Given the description of an element on the screen output the (x, y) to click on. 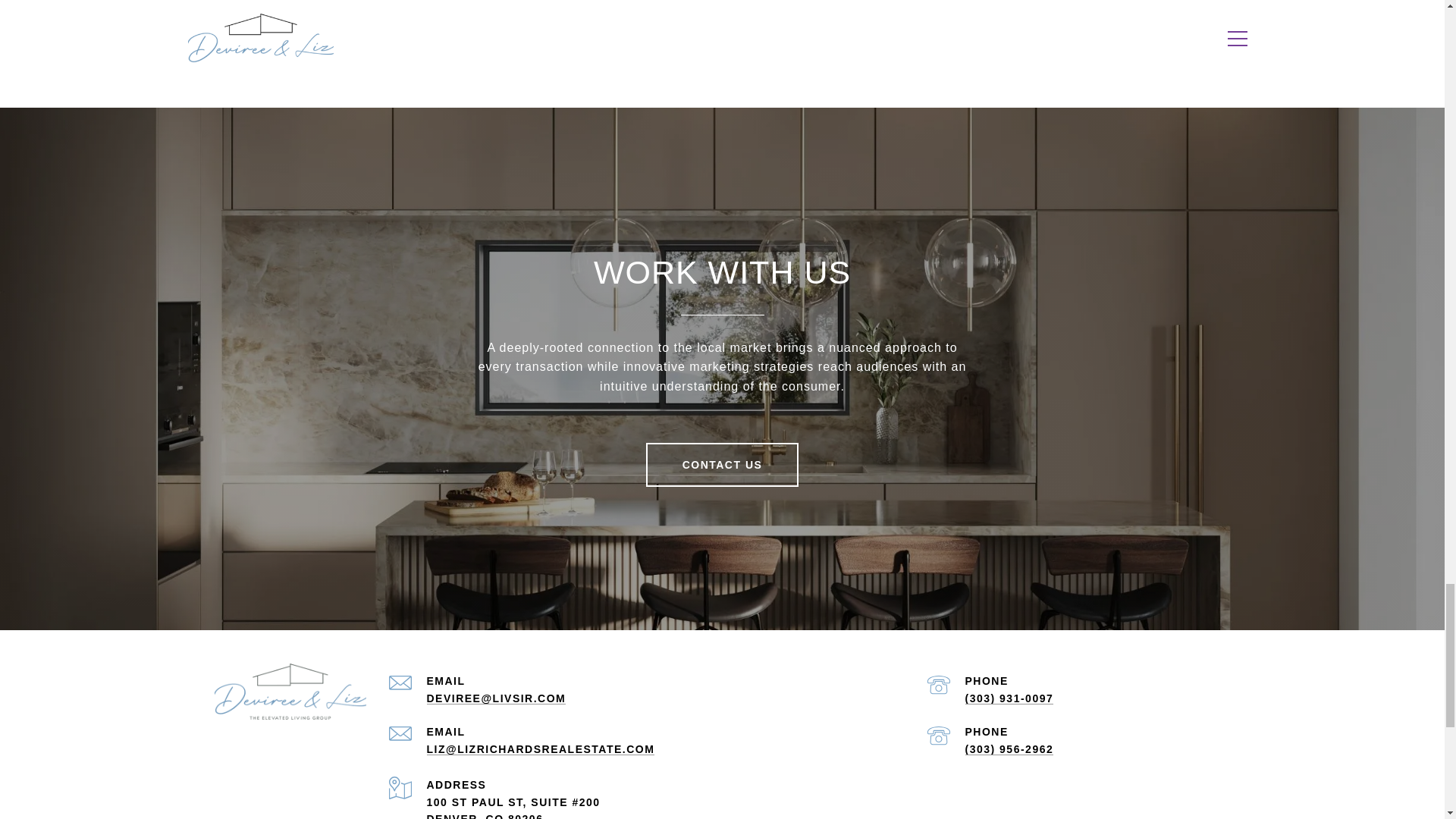
CONTACT US (722, 464)
